Given the description of an element on the screen output the (x, y) to click on. 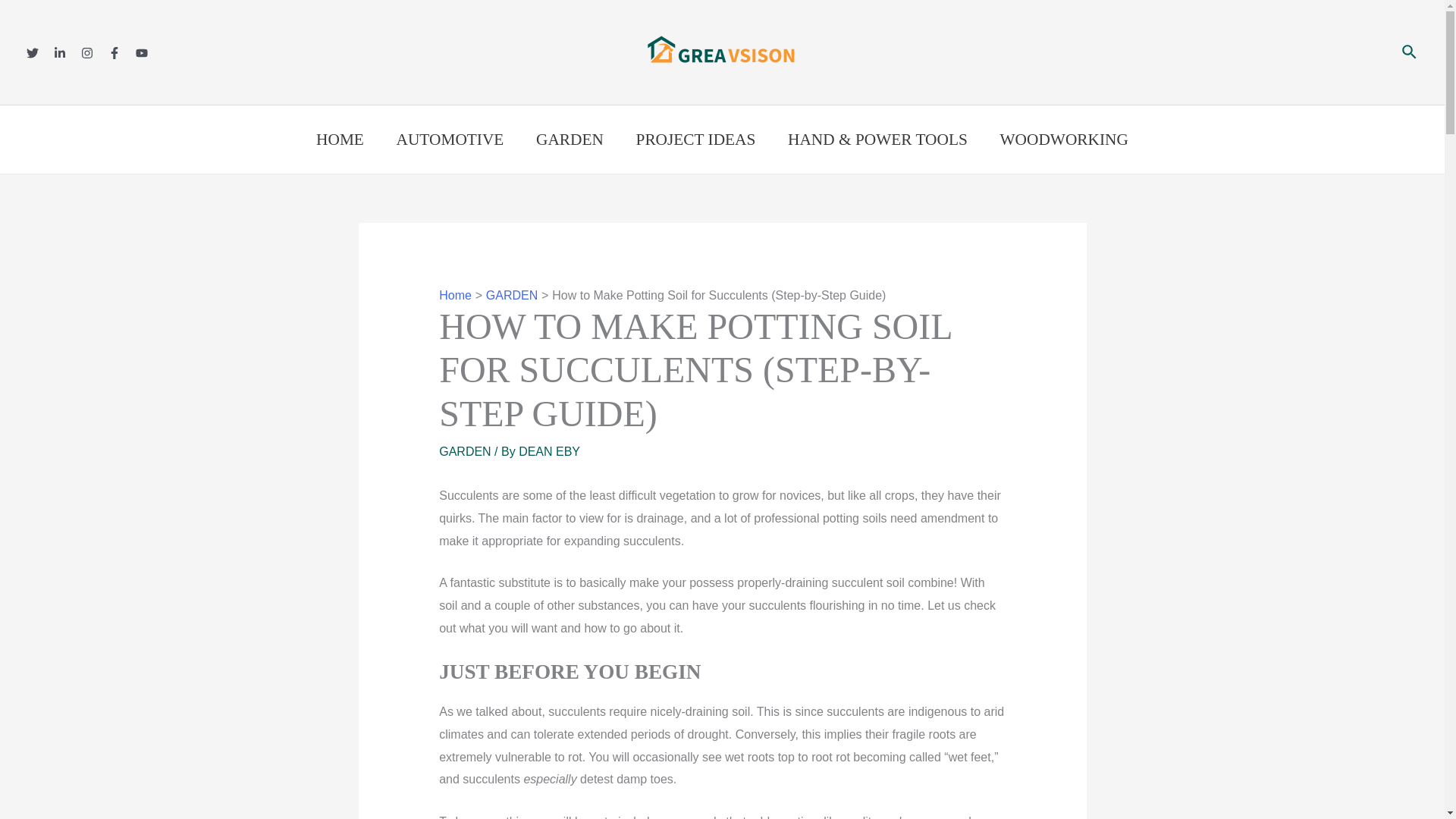
HOME (339, 139)
Home (455, 295)
PROJECT IDEAS (695, 139)
DEAN EBY (548, 451)
GARDEN (511, 295)
WOODWORKING (1064, 139)
View all posts by DEAN EBY (548, 451)
AUTOMOTIVE (449, 139)
GARDEN (464, 451)
GARDEN (569, 139)
